Given the description of an element on the screen output the (x, y) to click on. 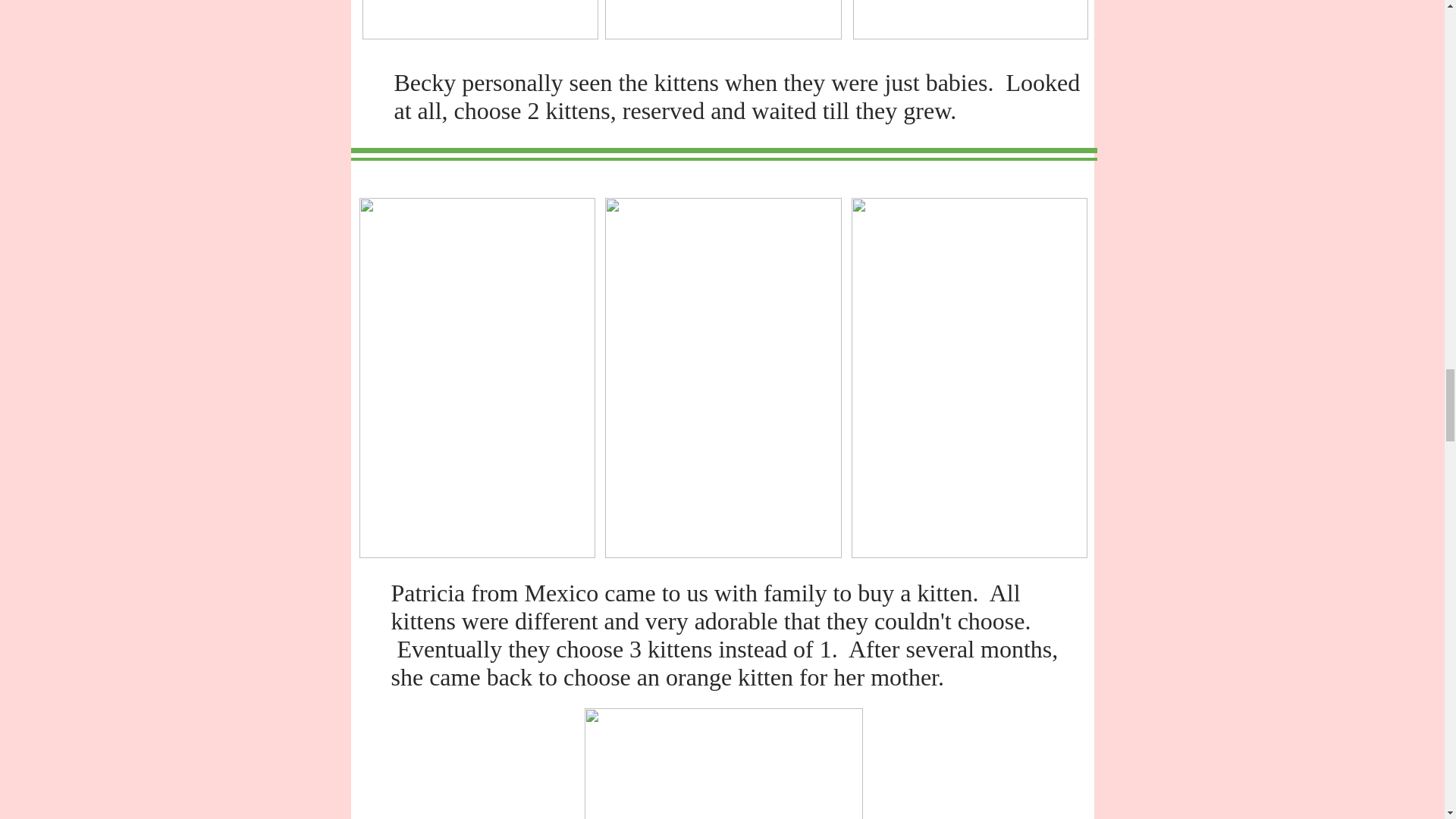
2.png (723, 19)
